Given the description of an element on the screen output the (x, y) to click on. 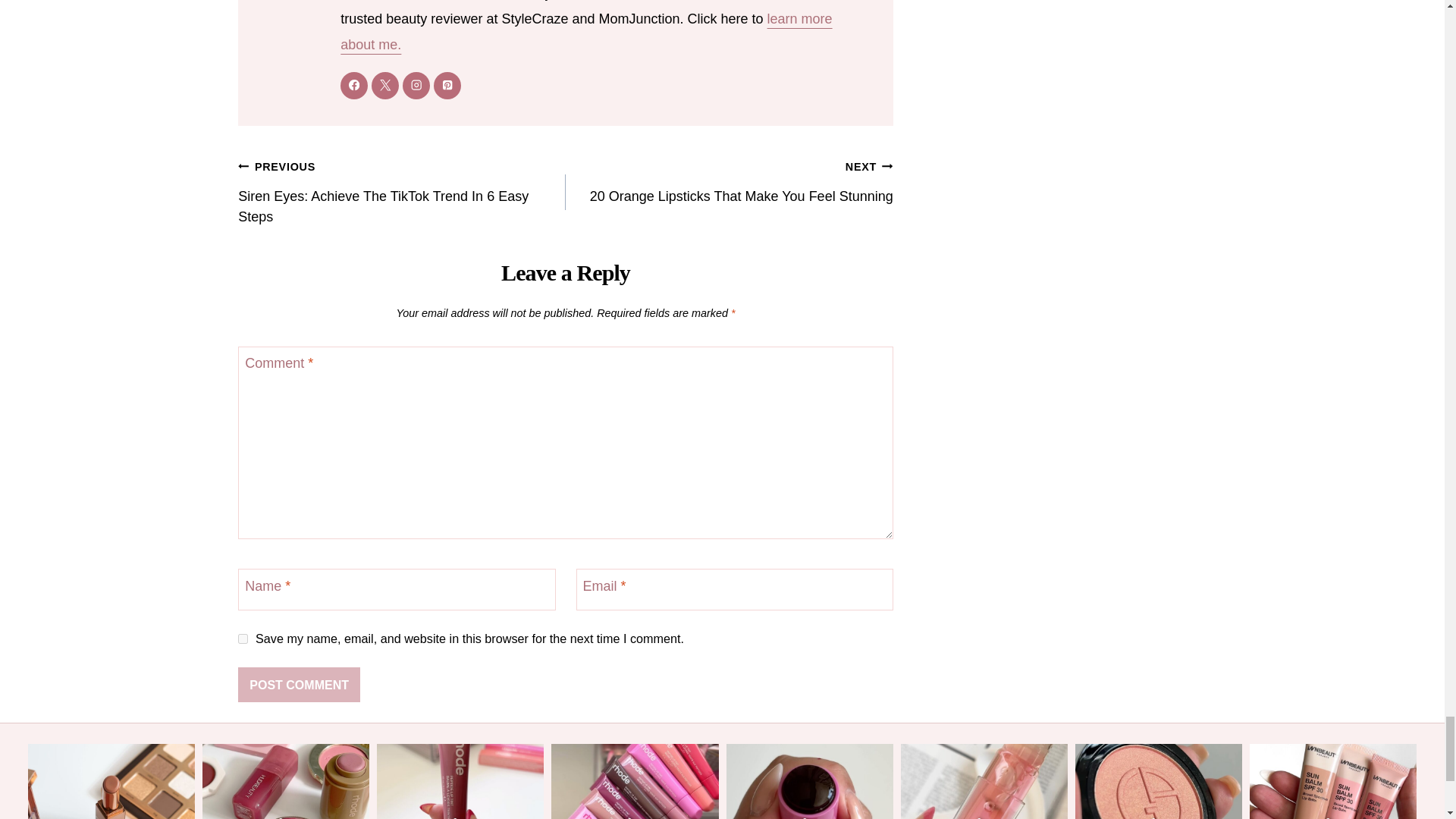
Post Comment (298, 684)
Follow Simone de Vlaming on Facebook (354, 84)
yes (242, 638)
